Given the description of an element on the screen output the (x, y) to click on. 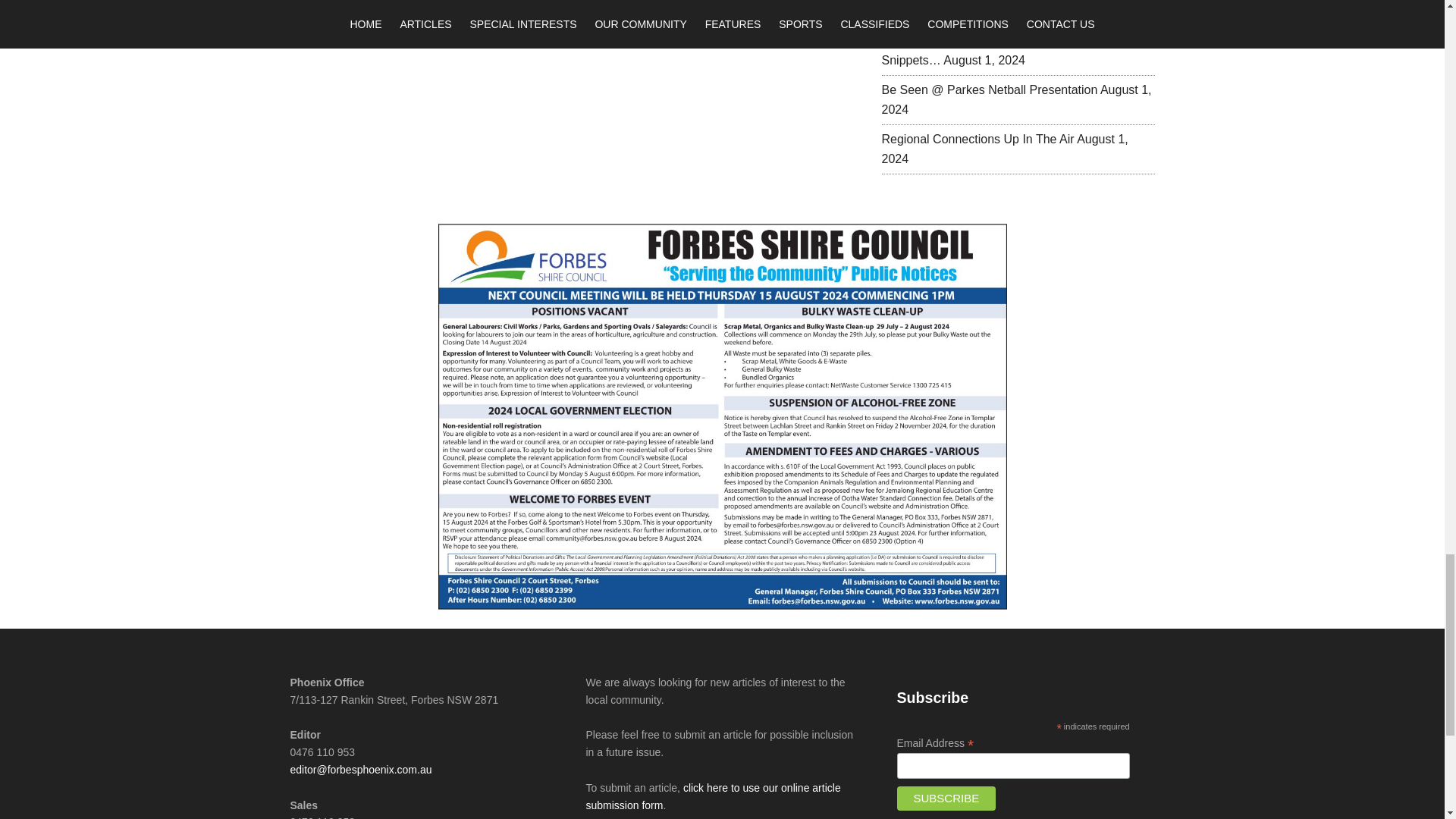
Subscribe (945, 798)
Submit an Article (712, 796)
